Given the description of an element on the screen output the (x, y) to click on. 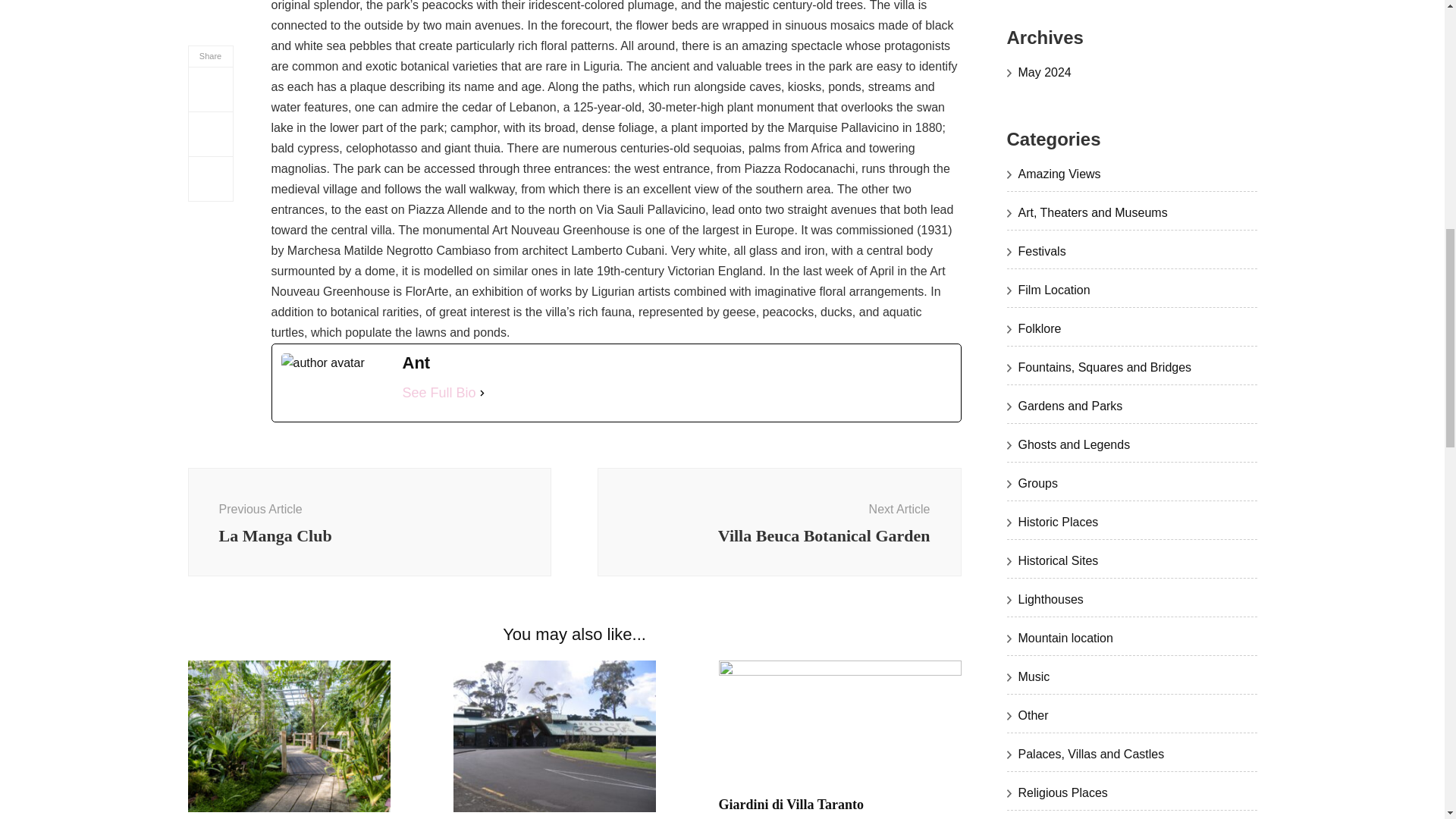
Giardini di Villa Taranto (791, 804)
See Full Bio (778, 521)
